Given the description of an element on the screen output the (x, y) to click on. 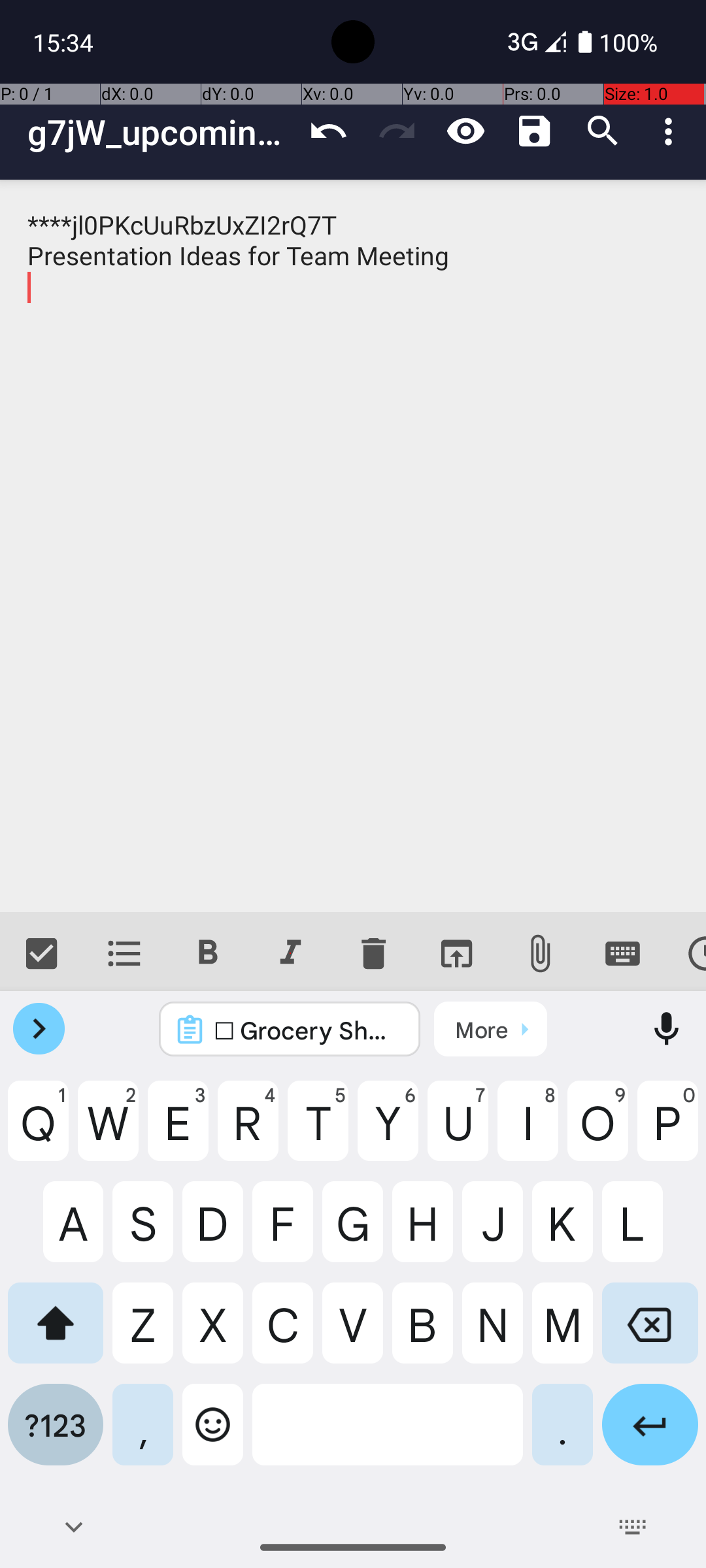
g7jW_upcoming_presentation_outline Element type: android.widget.TextView (160, 131)
****jl0PKcUuRbzUxZI2rQ7T
Presentation Ideas for Team Meeting
 Element type: android.widget.EditText (353, 545)
☐ Grocery Shopping ☐ Call Grandma ☐ Attend Team Meeting ☐ Take Dog to the Vet ☐ Finish Project Proposal ☐ Water Plants ☐ Reply to Emails ☐ Change Air Filter ☐ Submit Expense Report ☐ Submit Budget Report ☑ Read 'The Martian' ☑ Grocery Shopping ☑ Submit Expense Report ☑ Brainstorm Blog Post Ideas ☑ Change Air Filter ☑ Research Vacation Destinations ☑ Finish Project Proposal ☑ Change Air Filter ☑ Take Dog to the Vet ☑ Submit Expense Report ☑ Learn to Play Guitar Element type: android.widget.TextView (306, 1029)
